Given the description of an element on the screen output the (x, y) to click on. 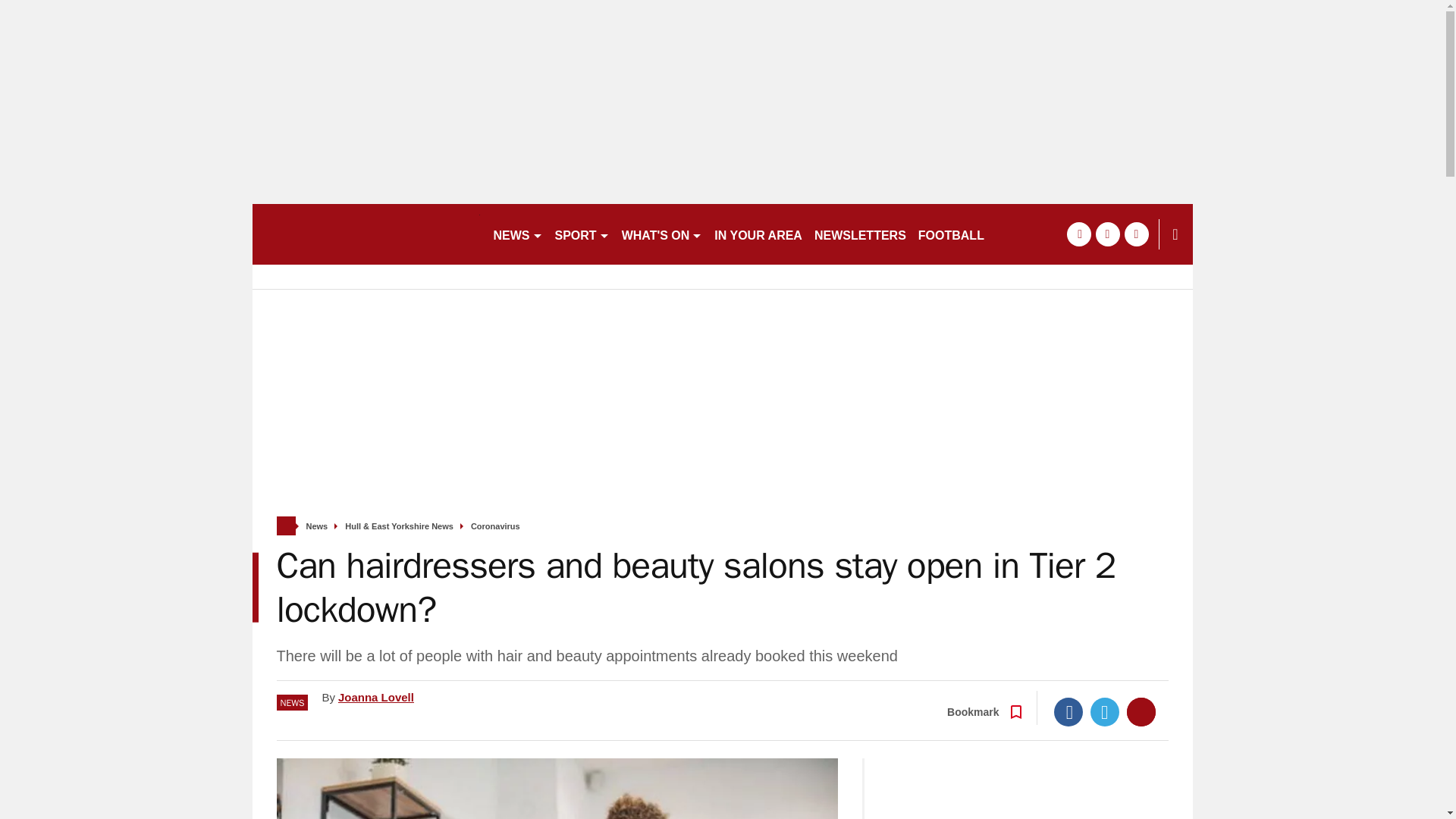
hulldailymail (365, 233)
Twitter (1104, 711)
Facebook (1068, 711)
facebook (1077, 233)
NEWS (517, 233)
twitter (1106, 233)
instagram (1136, 233)
WHAT'S ON (662, 233)
SPORT (581, 233)
RUGBY LEAGUE (1045, 233)
